Given the description of an element on the screen output the (x, y) to click on. 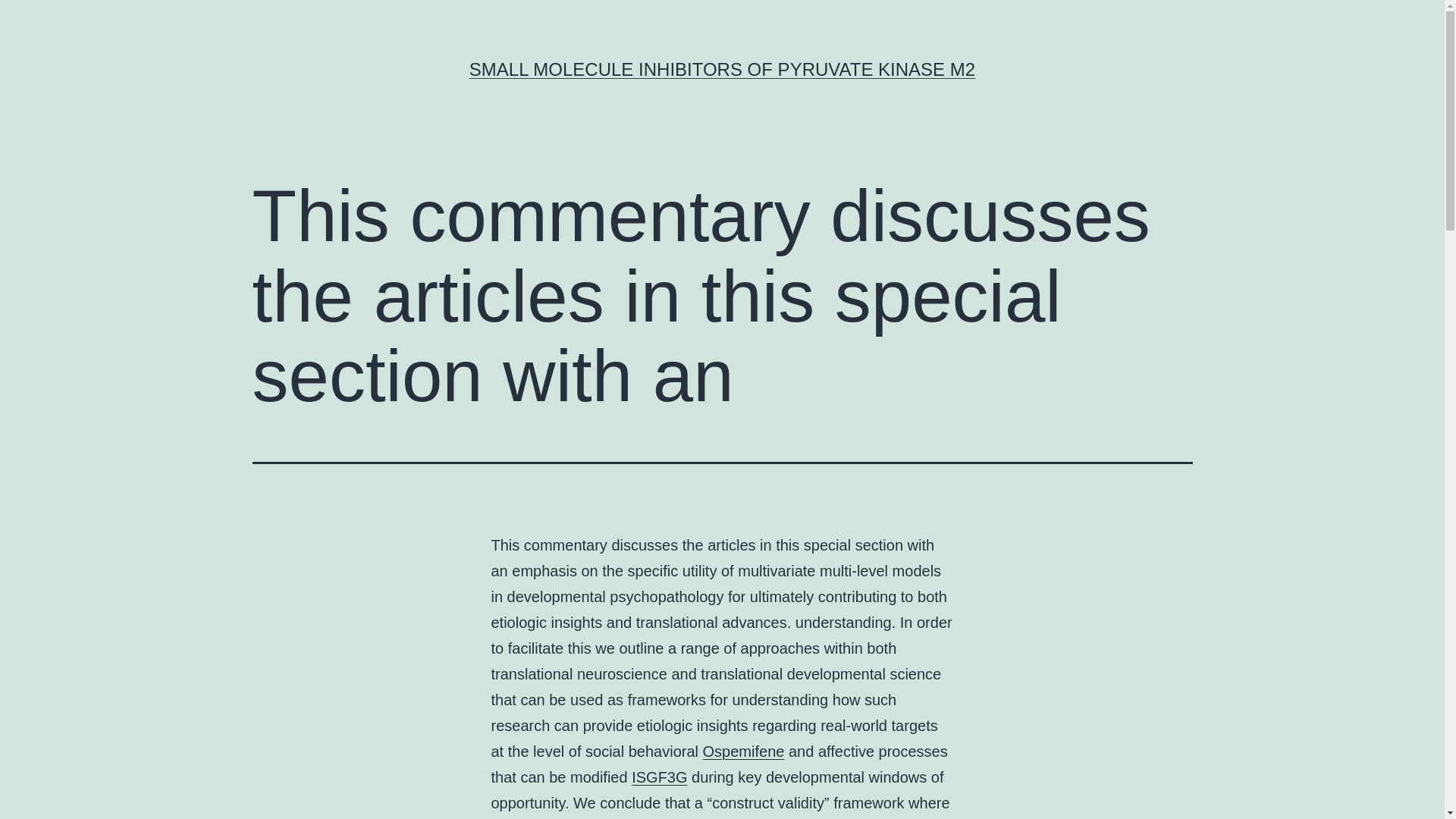
Ospemifene (743, 751)
SMALL MOLECULE INHIBITORS OF PYRUVATE KINASE M2 (721, 68)
ISGF3G (659, 777)
